Given the description of an element on the screen output the (x, y) to click on. 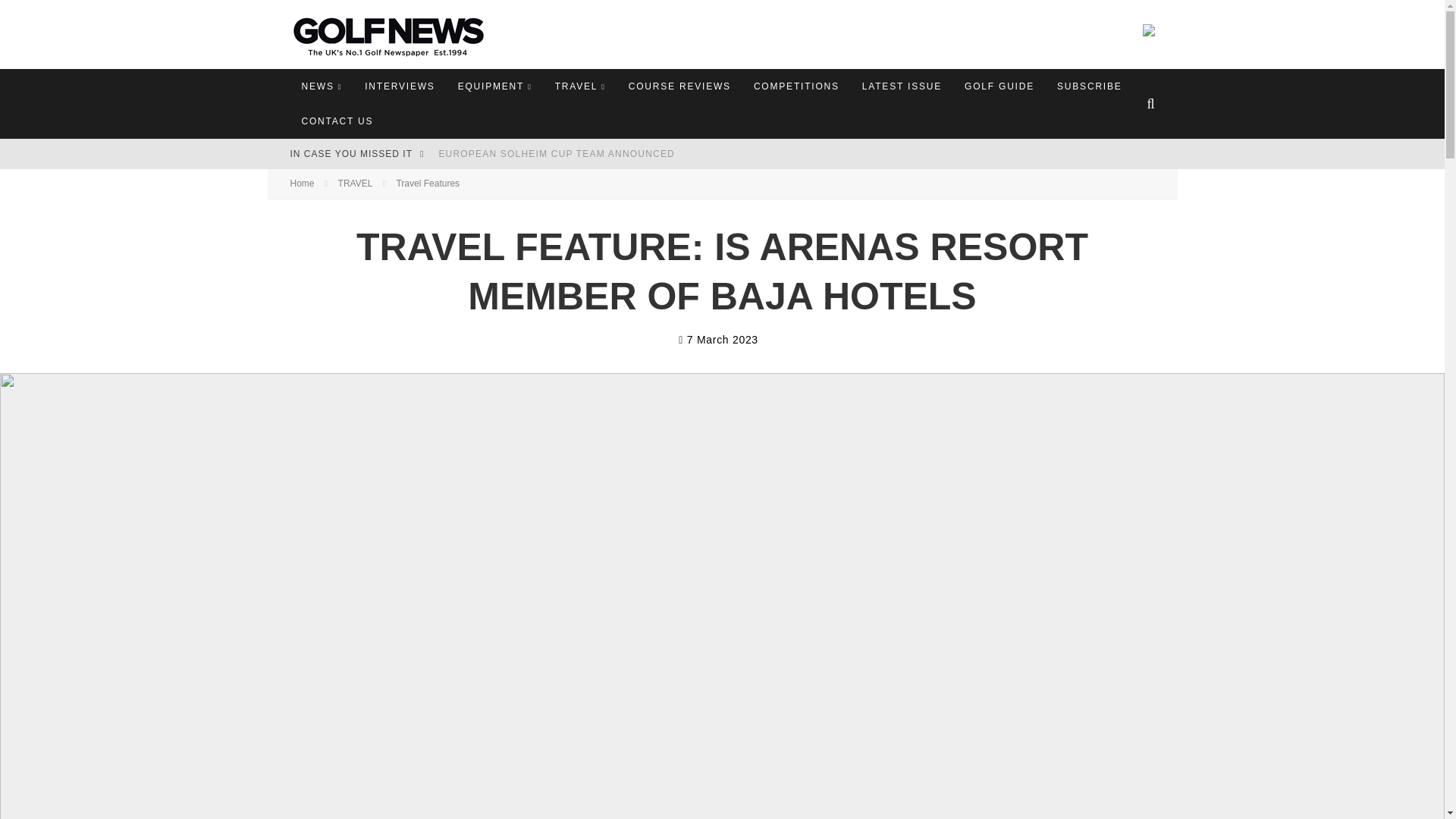
European Solheim Cup team announced (556, 153)
EQUIPMENT (494, 86)
NEWS (321, 86)
COURSE REVIEWS (679, 86)
INTERVIEWS (399, 86)
TRAVEL (580, 86)
